Given the description of an element on the screen output the (x, y) to click on. 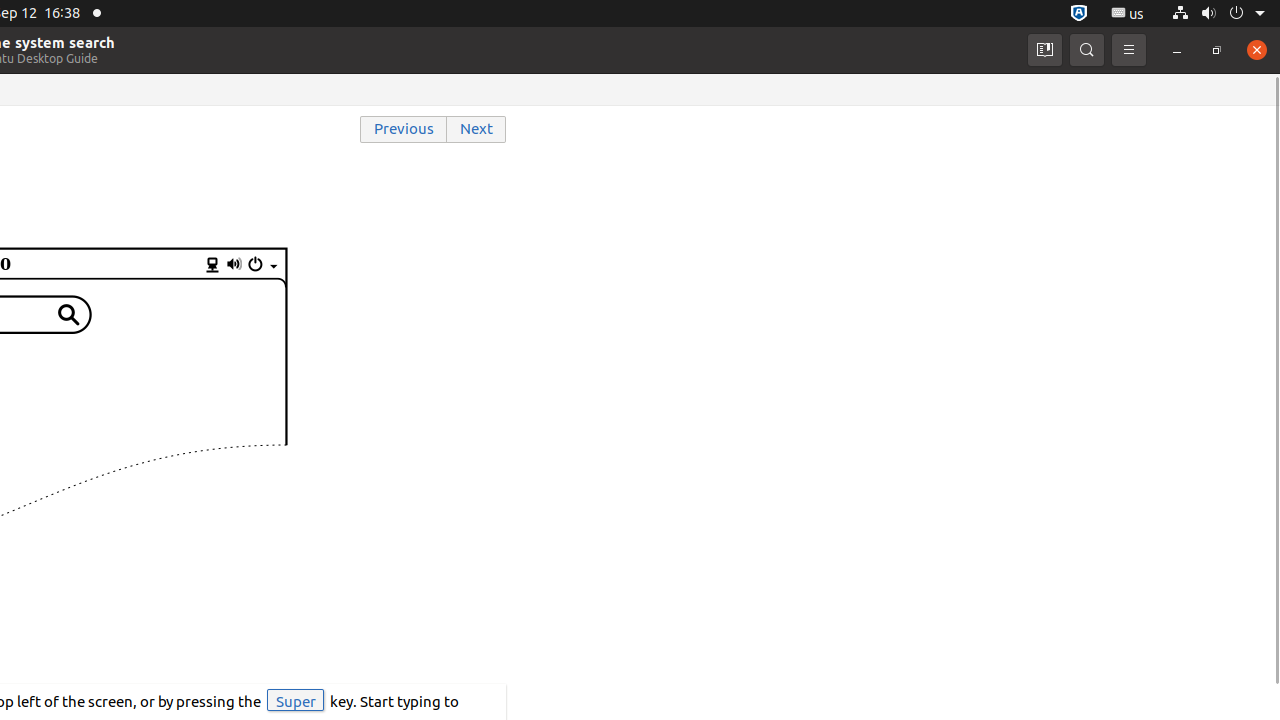
Close Element type: push-button (1257, 50)
Minimize Element type: push-button (1177, 50)
Previous Element type: link (404, 129)
